Given the description of an element on the screen output the (x, y) to click on. 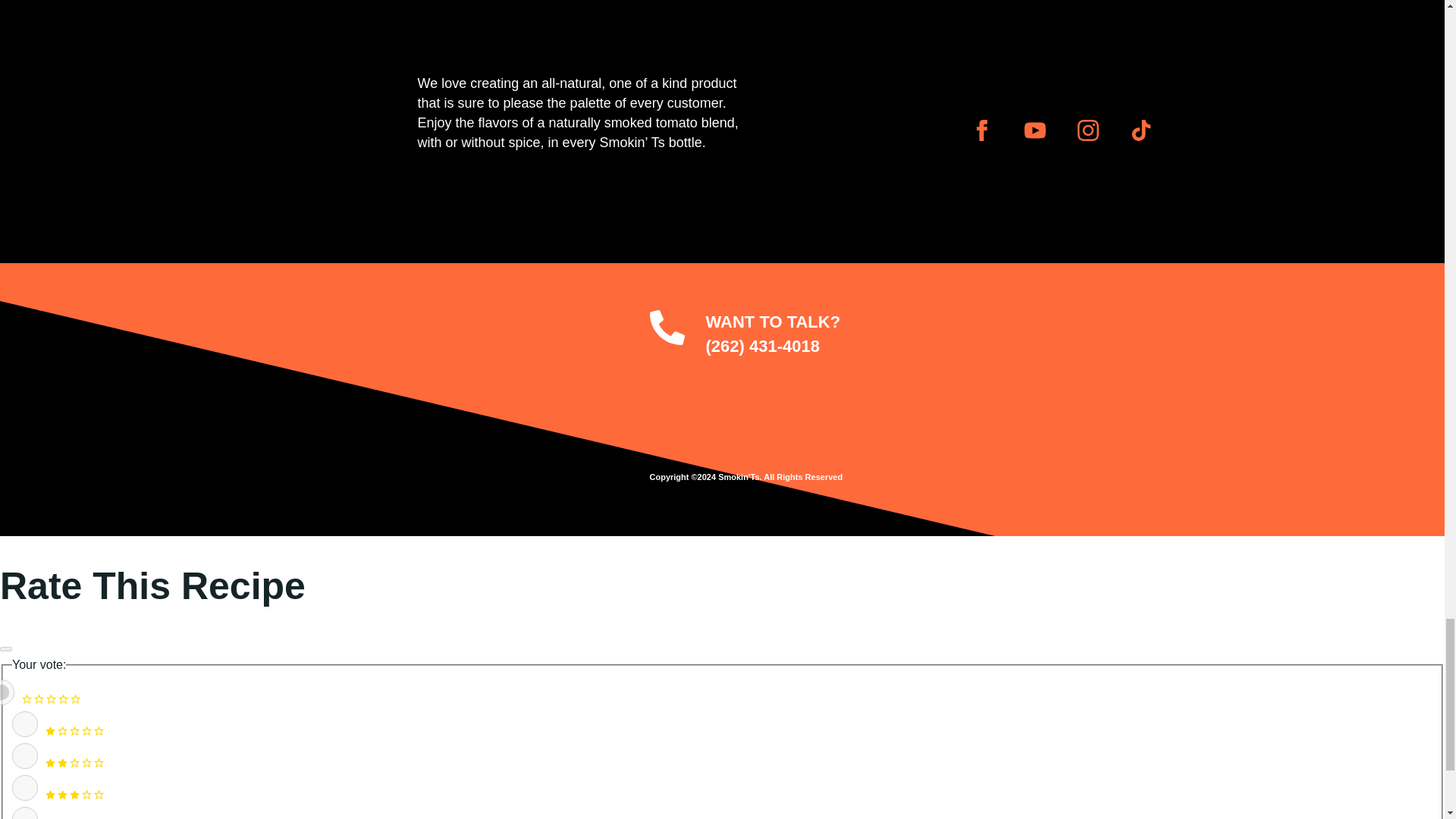
4 (24, 812)
2 (24, 755)
1 (24, 724)
3 (24, 787)
